Given the description of an element on the screen output the (x, y) to click on. 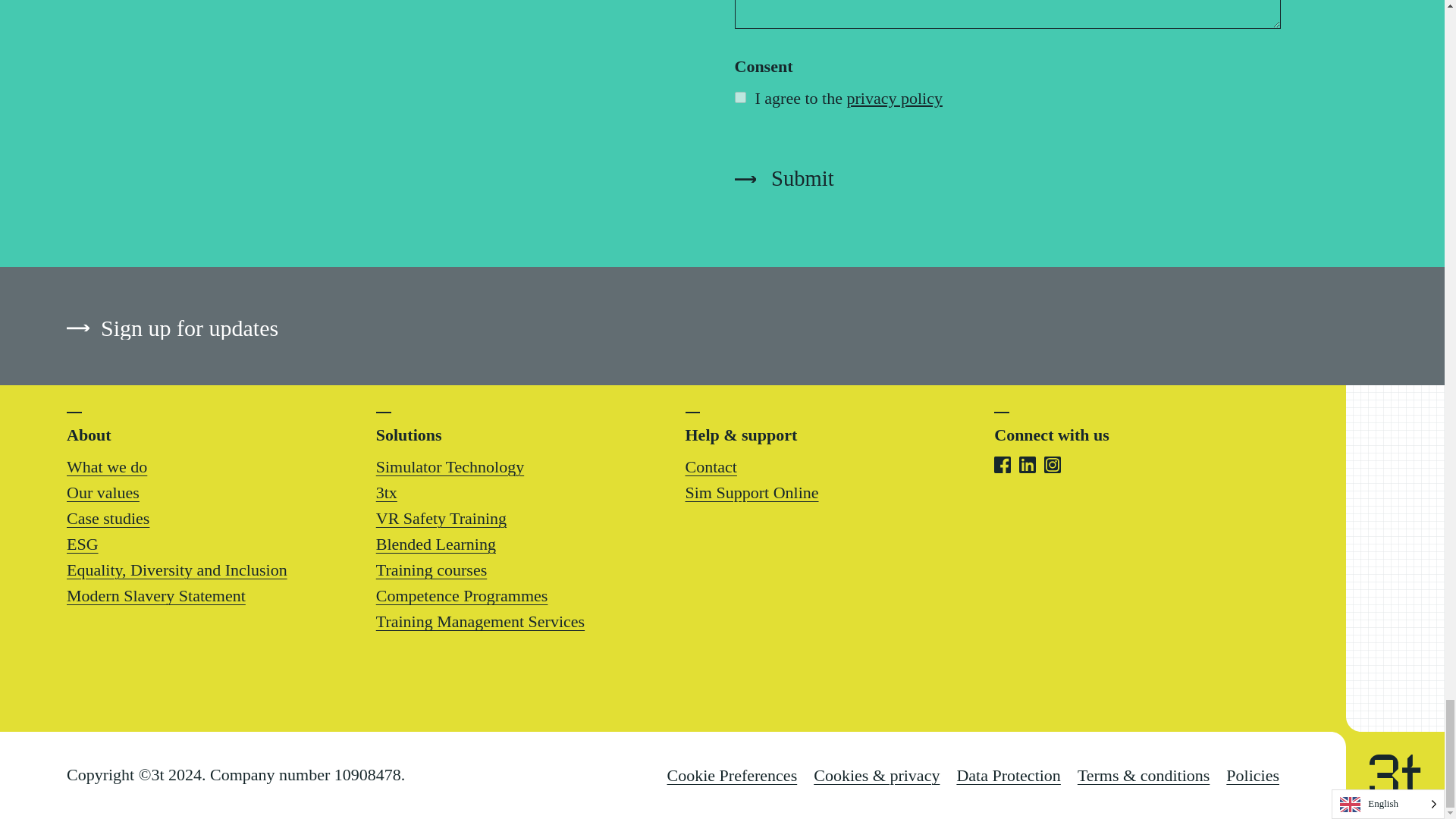
1 (739, 97)
